Given the description of an element on the screen output the (x, y) to click on. 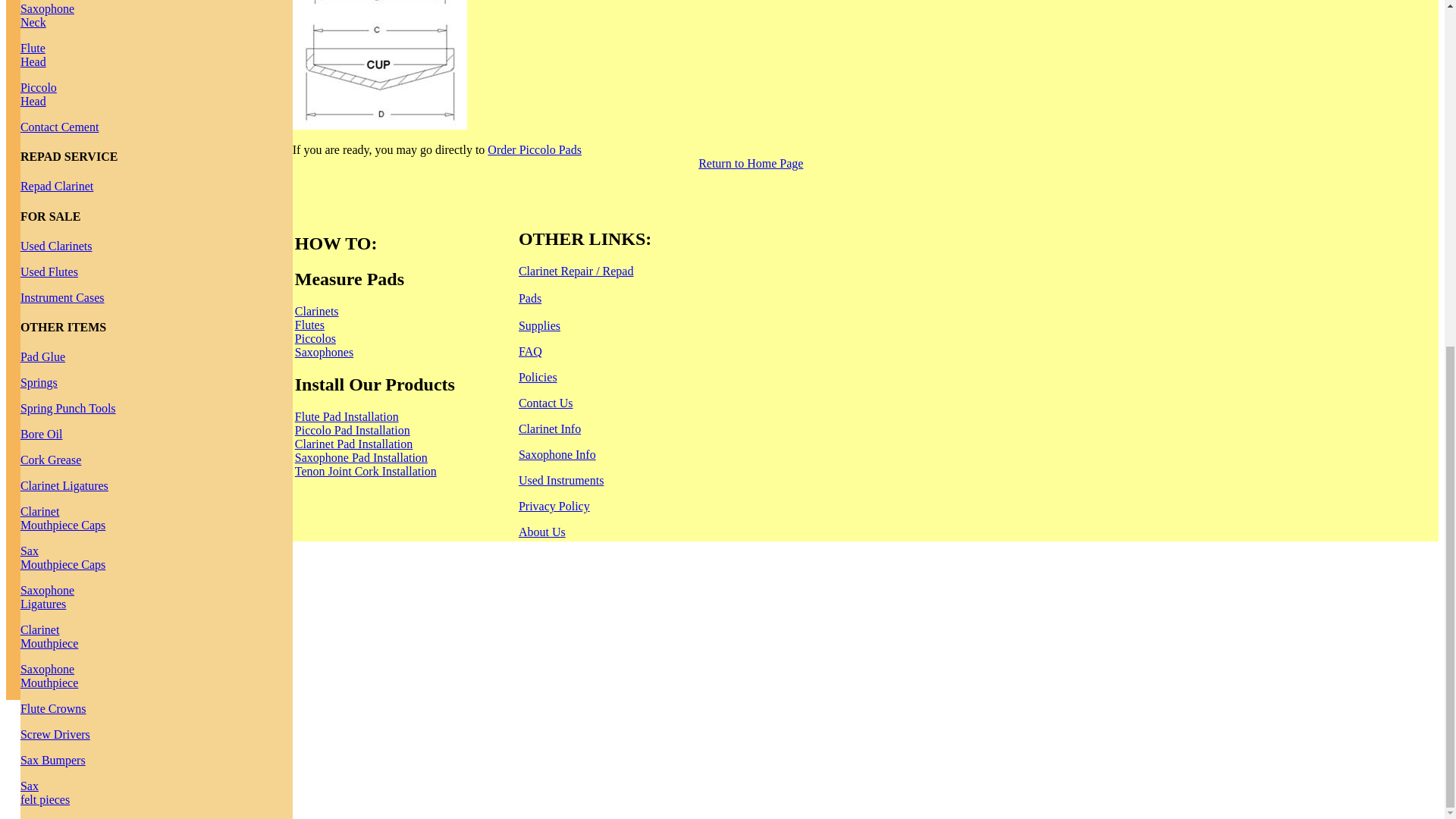
Pad Glue (42, 356)
Cork Grease (38, 94)
Screw Drivers (33, 54)
Sax Bumpers (50, 459)
Instrument Cases (55, 734)
Clarinet Ligatures (52, 759)
Spring Punch Tools (62, 557)
Flute Crowns (62, 297)
